Given the description of an element on the screen output the (x, y) to click on. 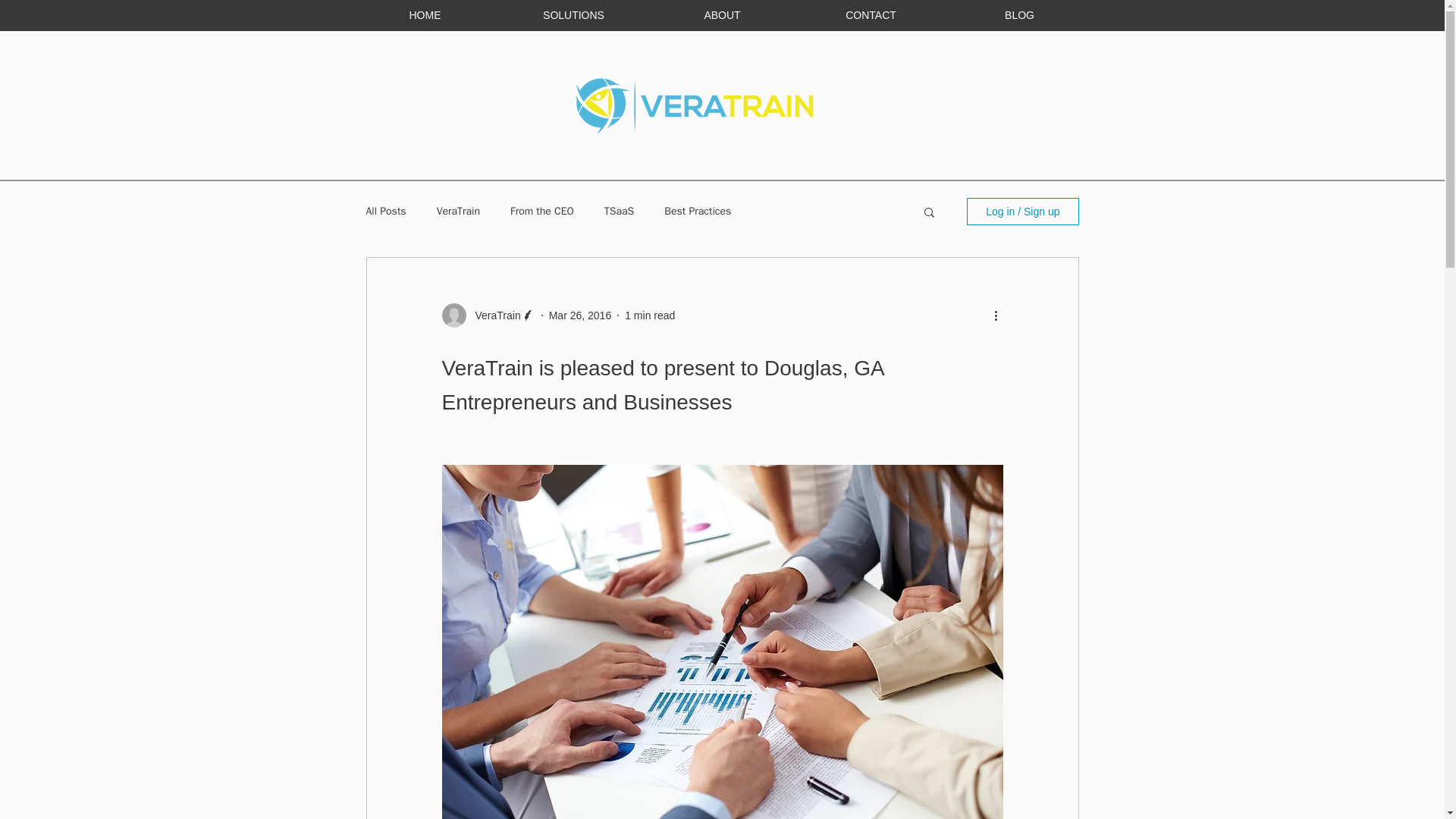
Best Practices (696, 211)
VeraTrain (492, 315)
TSaaS (618, 211)
BLOG (1018, 15)
1 min read (649, 315)
VeraTrain (458, 211)
Mar 26, 2016 (579, 315)
CONTACT (870, 15)
From the CEO (542, 211)
HOME (424, 15)
